Given the description of an element on the screen output the (x, y) to click on. 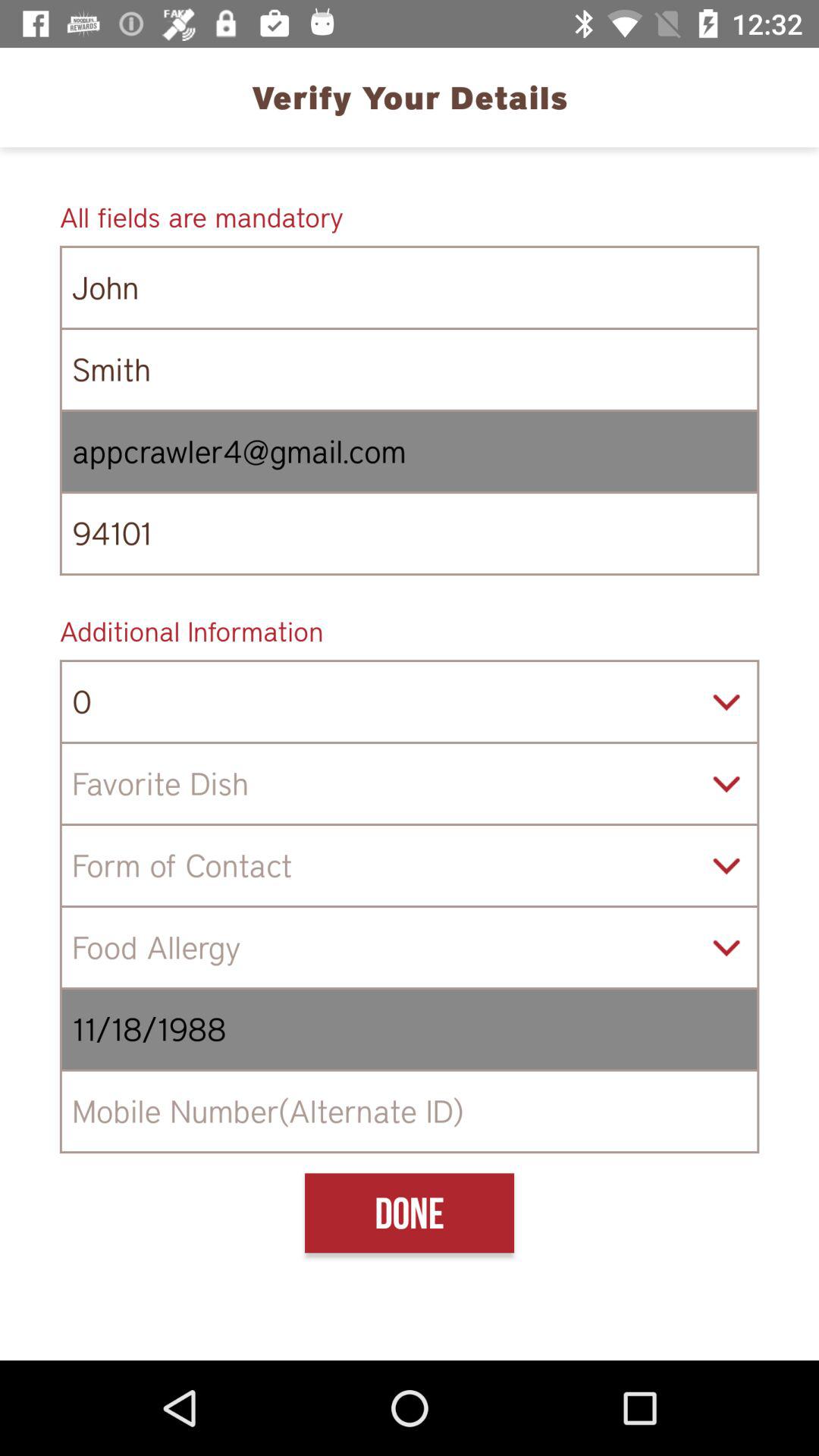
drop down menu of foods to select as allergy (409, 947)
